Given the description of an element on the screen output the (x, y) to click on. 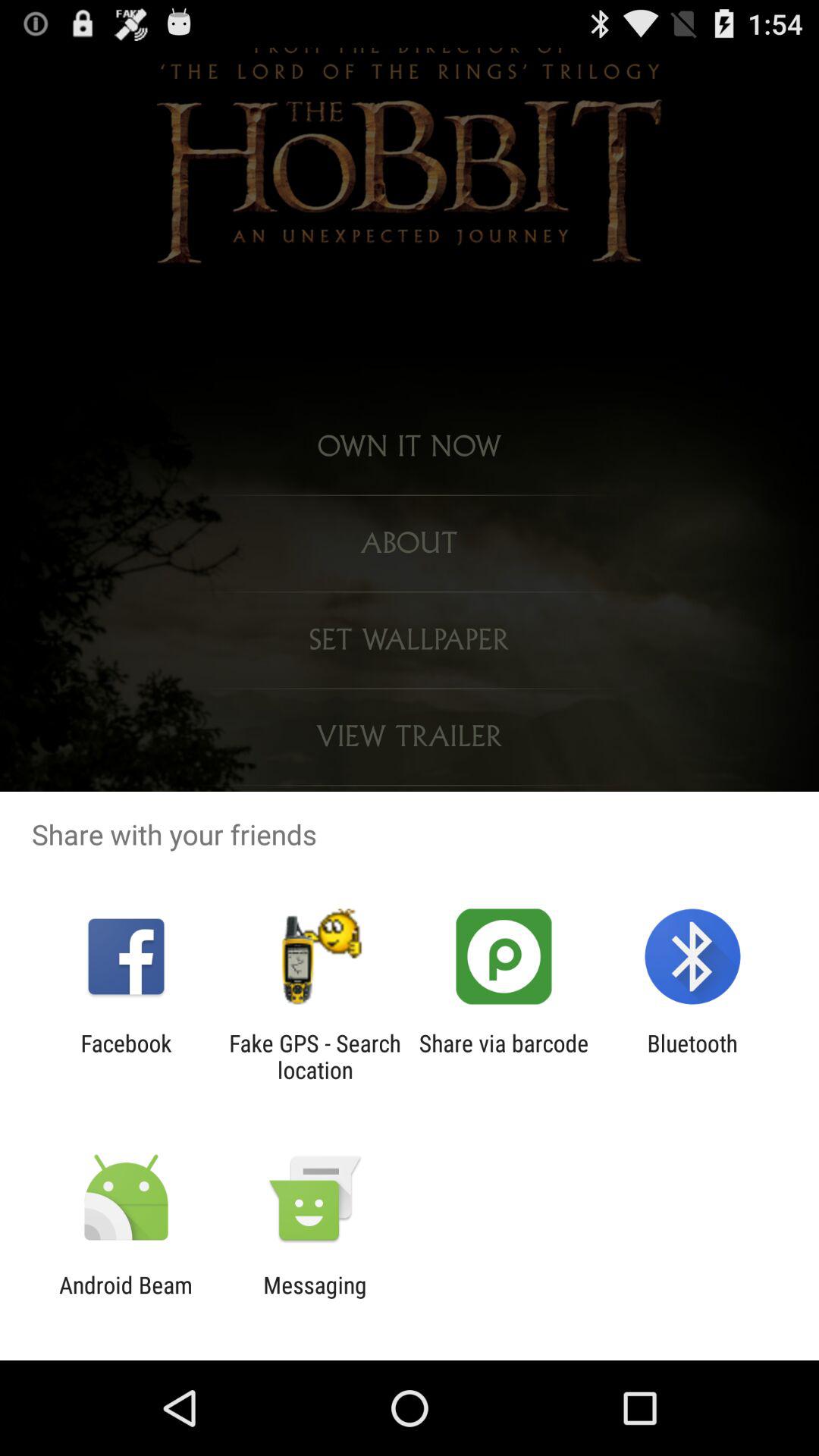
choose the bluetooth at the bottom right corner (692, 1056)
